Given the description of an element on the screen output the (x, y) to click on. 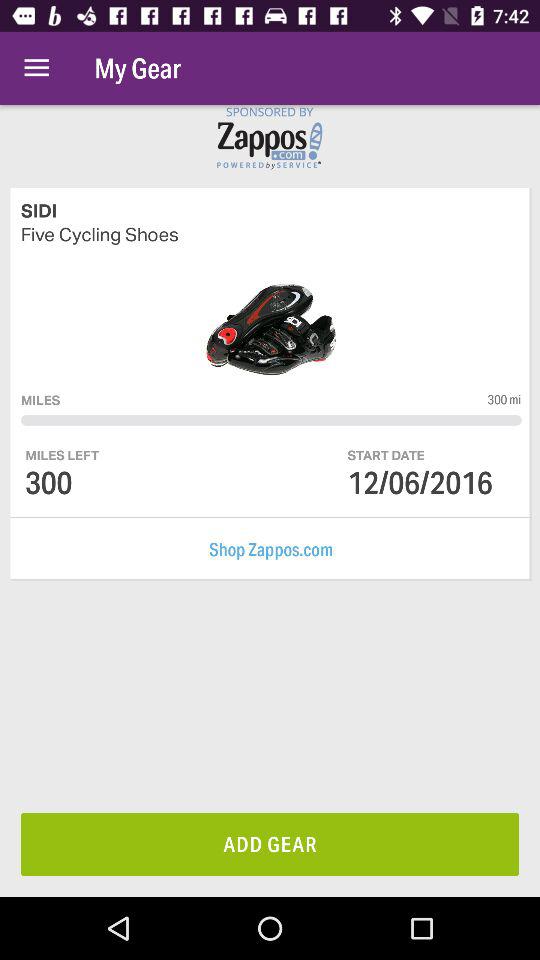
click item next to miles left item (385, 454)
